Given the description of an element on the screen output the (x, y) to click on. 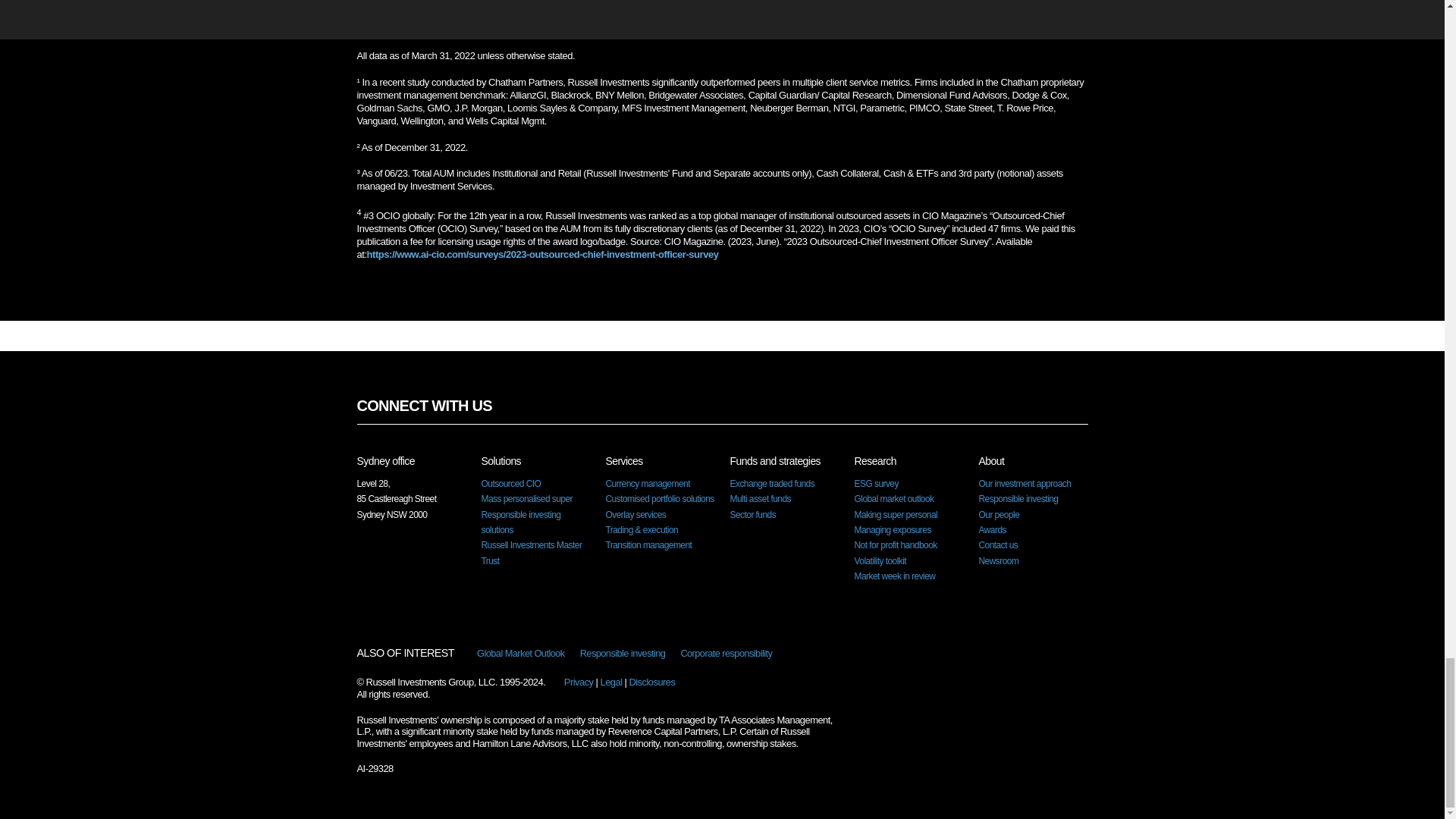
Overlay services (635, 514)
Making super personal (895, 514)
Outsourced CIO (510, 483)
Not for profit handbook (894, 544)
Russell Investments Master Trust (530, 552)
Awards (992, 529)
Customised portfolio solutions (659, 498)
Our people (998, 514)
Currency management (646, 483)
ESG survey (875, 483)
